Given the description of an element on the screen output the (x, y) to click on. 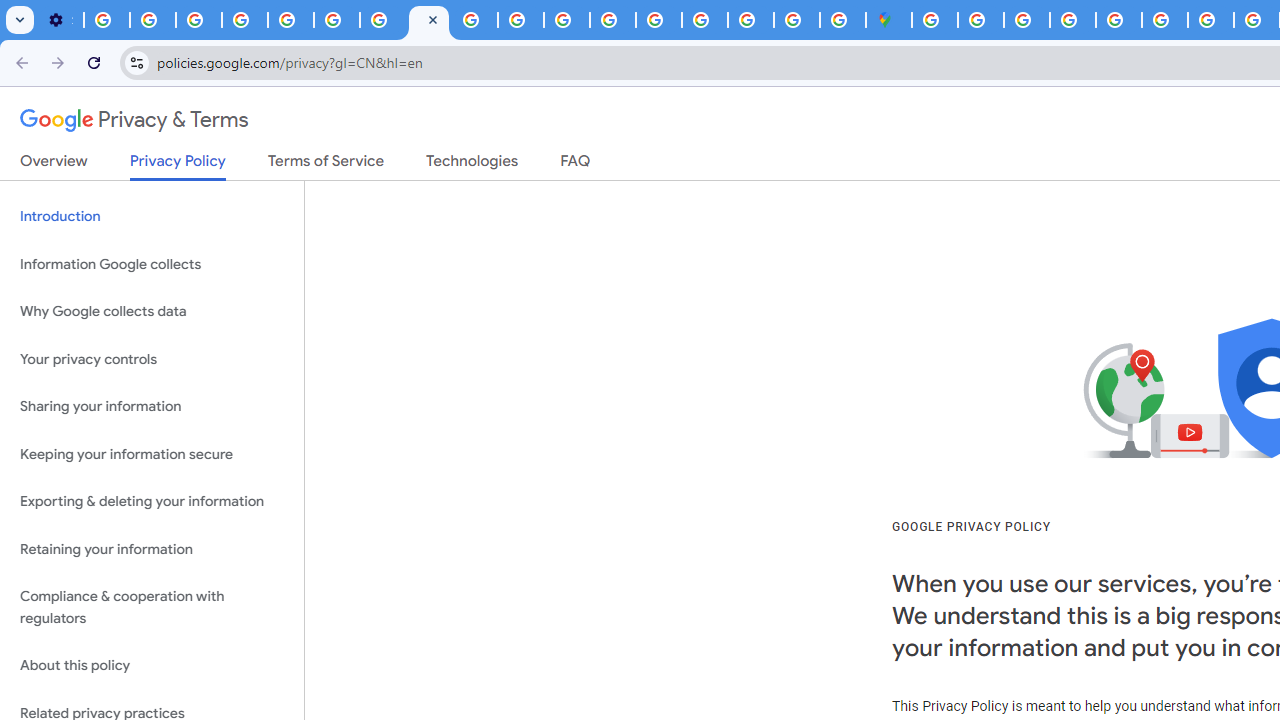
Exporting & deleting your information (152, 502)
Google Maps (889, 20)
YouTube (336, 20)
Terms and Conditions (1164, 20)
About this policy (152, 666)
Sharing your information (152, 407)
Information Google collects (152, 263)
Privacy Help Center - Policies Help (520, 20)
Terms and Conditions (1118, 20)
Settings - Customize profile (60, 20)
